Given the description of an element on the screen output the (x, y) to click on. 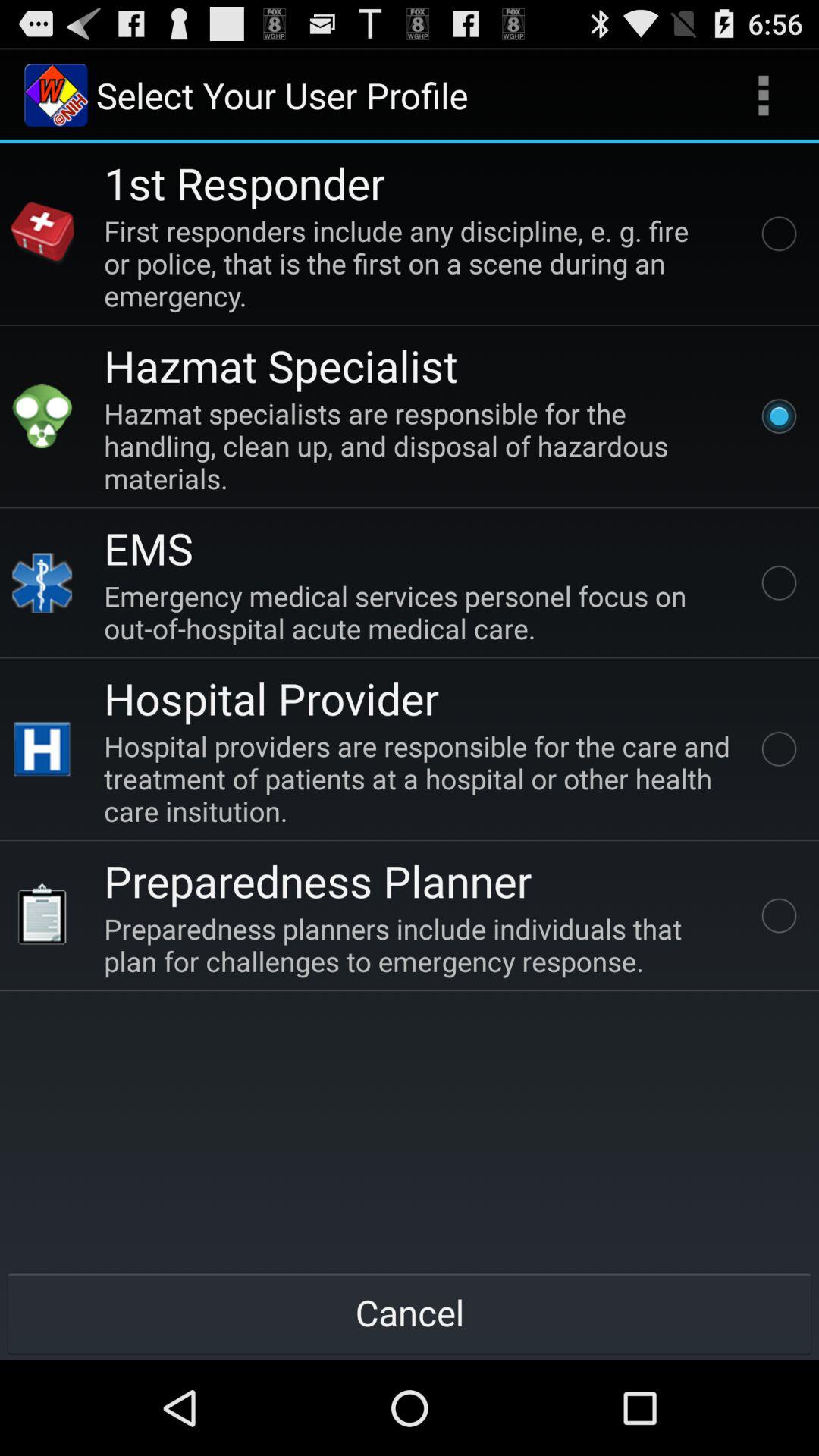
choose app below the first responders include item (280, 365)
